Given the description of an element on the screen output the (x, y) to click on. 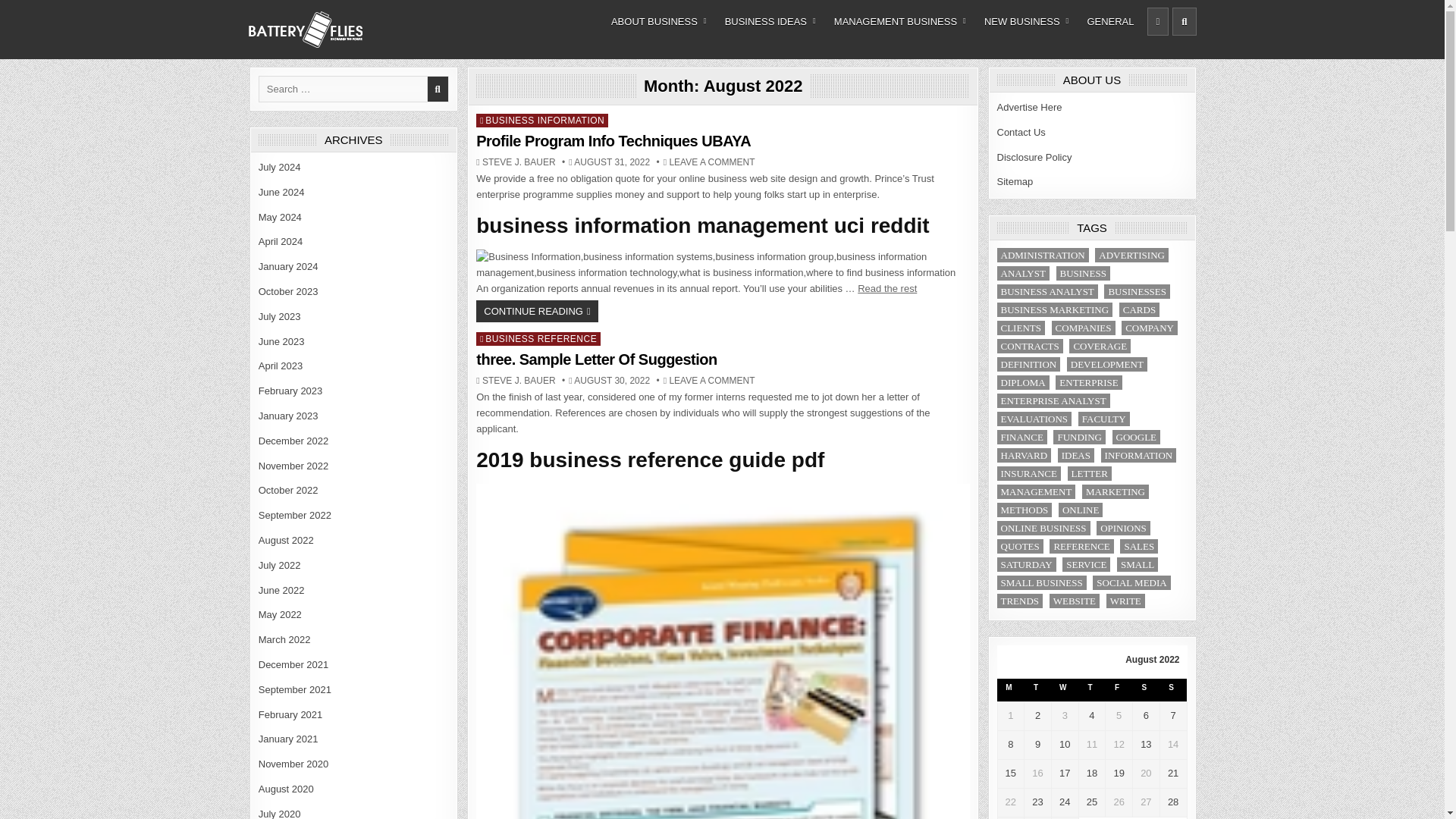
Friday (1118, 689)
BATTERY FLIES (316, 55)
October 2023 (288, 291)
Monday (1011, 689)
Thursday (1091, 689)
Sunday (1172, 689)
Wednesday (1064, 689)
July 2024 (280, 166)
May 2024 (280, 216)
June 2024 (281, 192)
Saturday (1146, 689)
NEW BUSINESS (1026, 21)
GENERAL (1109, 21)
Tuesday (1038, 689)
ABOUT BUSINESS (659, 21)
